Given the description of an element on the screen output the (x, y) to click on. 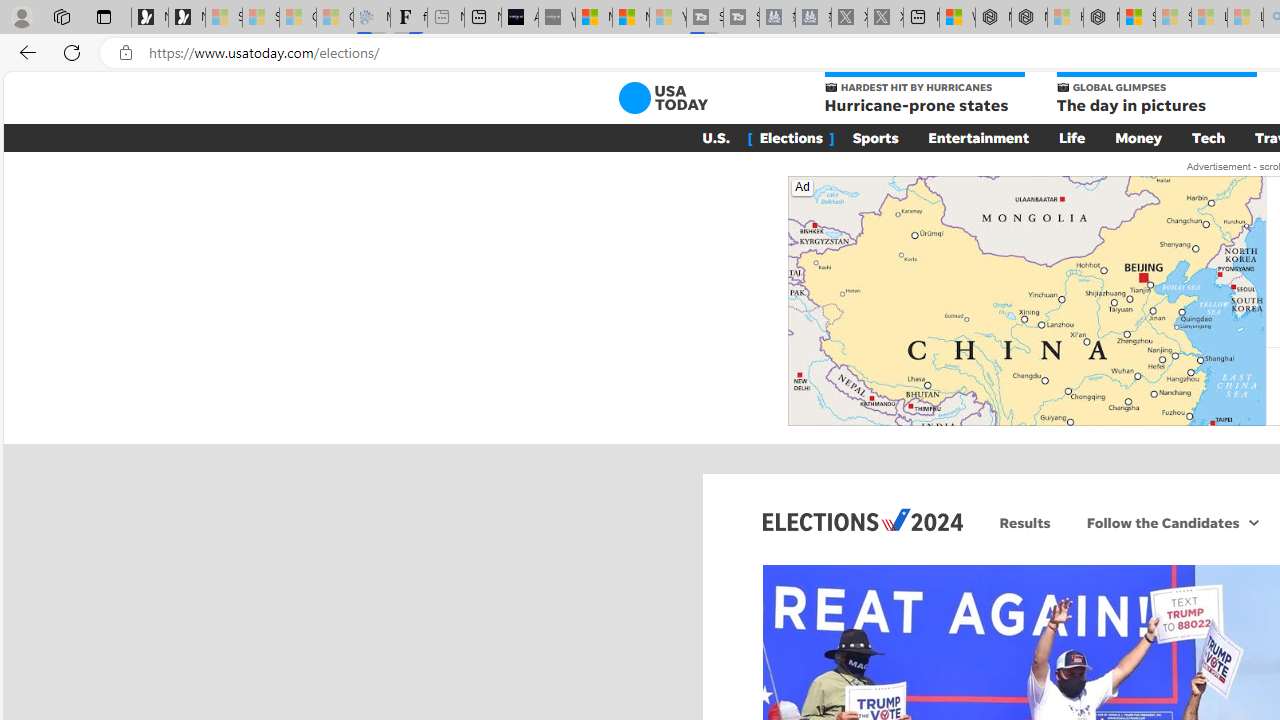
[ Elections ] (790, 137)
Microsoft Start (630, 17)
Entertainment (978, 137)
Newsletter Sign Up (186, 17)
Streaming Coverage | T3 - Sleeping (705, 17)
USA TODAY (662, 97)
View site information (125, 53)
More Follow the Candidates navigation (1253, 521)
